Given the description of an element on the screen output the (x, y) to click on. 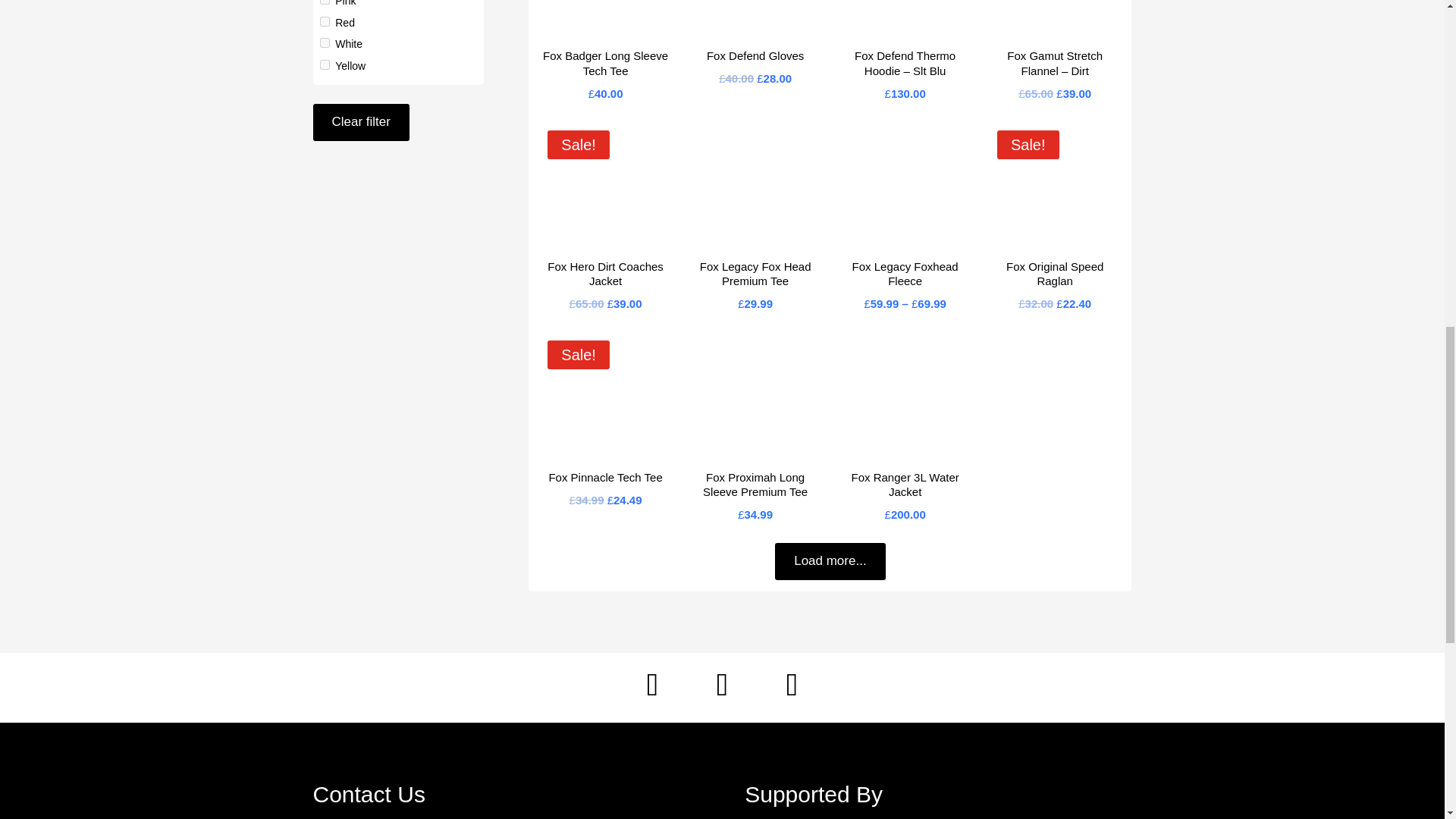
red (325, 21)
white (325, 42)
pink (325, 2)
Pink (344, 3)
Follow on Facebook (652, 684)
yellow (325, 64)
Follow on Instagram (722, 684)
Yellow (349, 65)
Red (344, 22)
Follow on Youtube (792, 684)
